Given the description of an element on the screen output the (x, y) to click on. 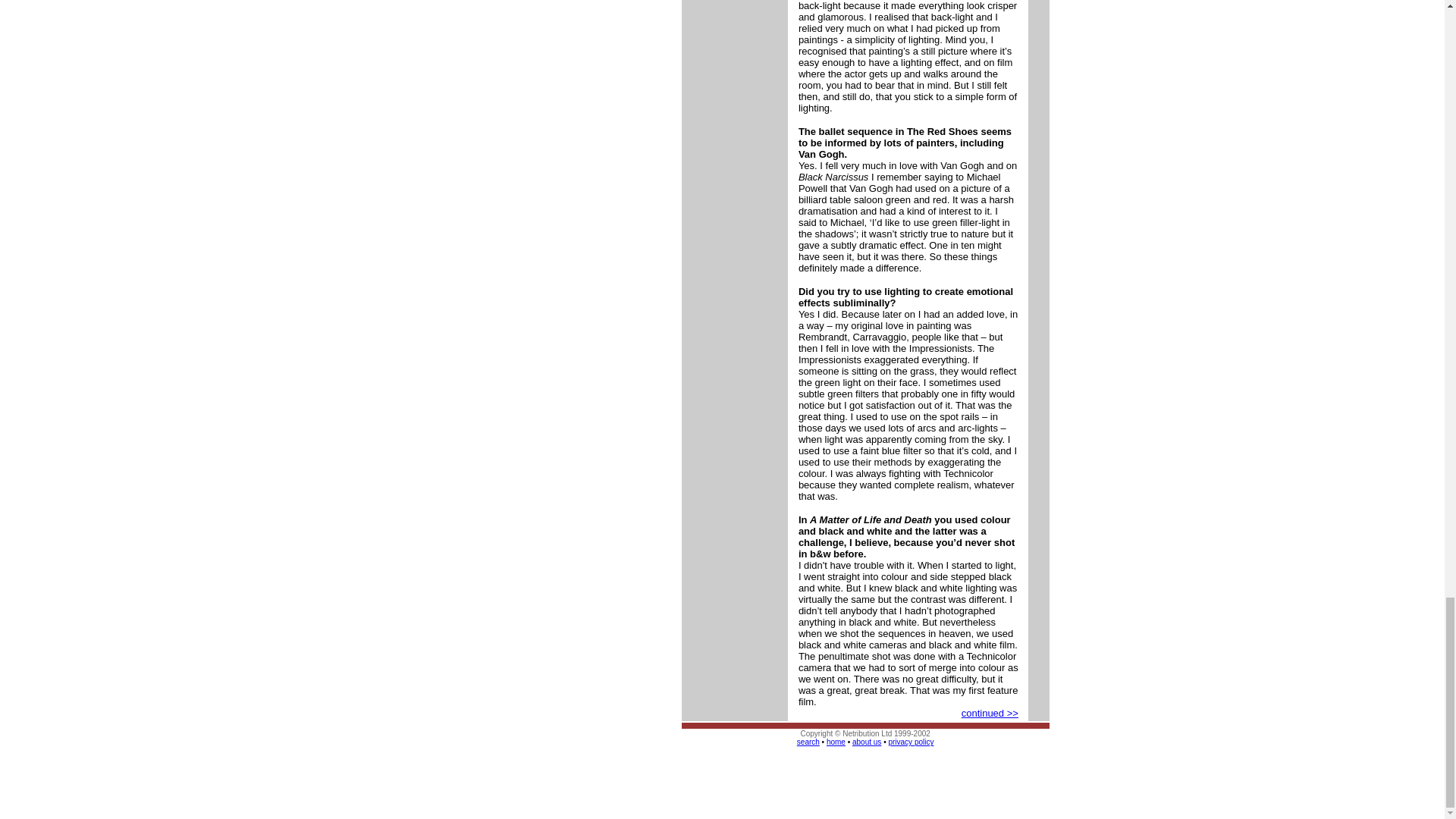
privacy policy (910, 741)
search (807, 741)
about us (865, 741)
home (836, 741)
